Given the description of an element on the screen output the (x, y) to click on. 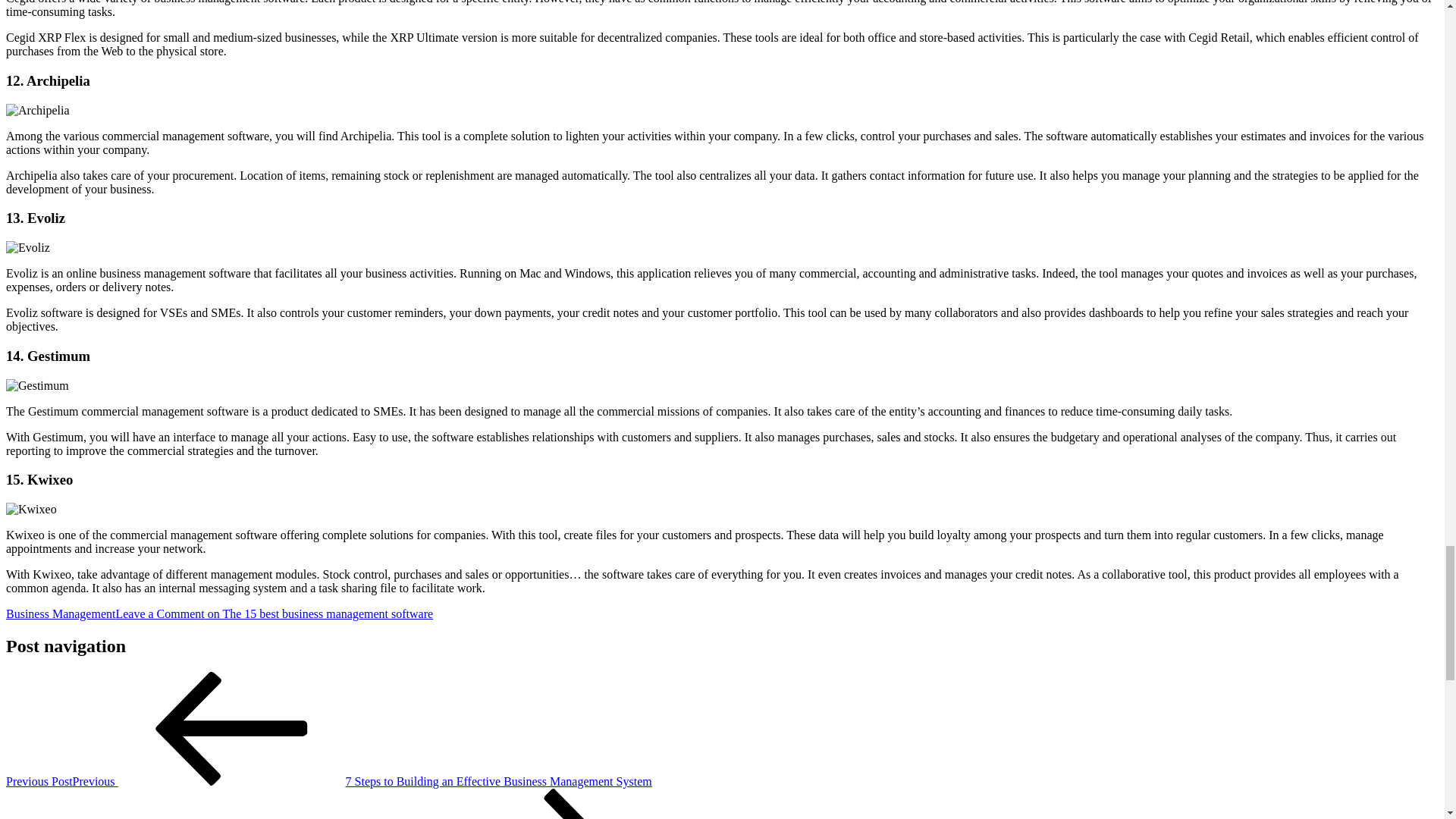
Leave a Comment on The 15 best business management software (273, 613)
Business Management (60, 613)
